Given the description of an element on the screen output the (x, y) to click on. 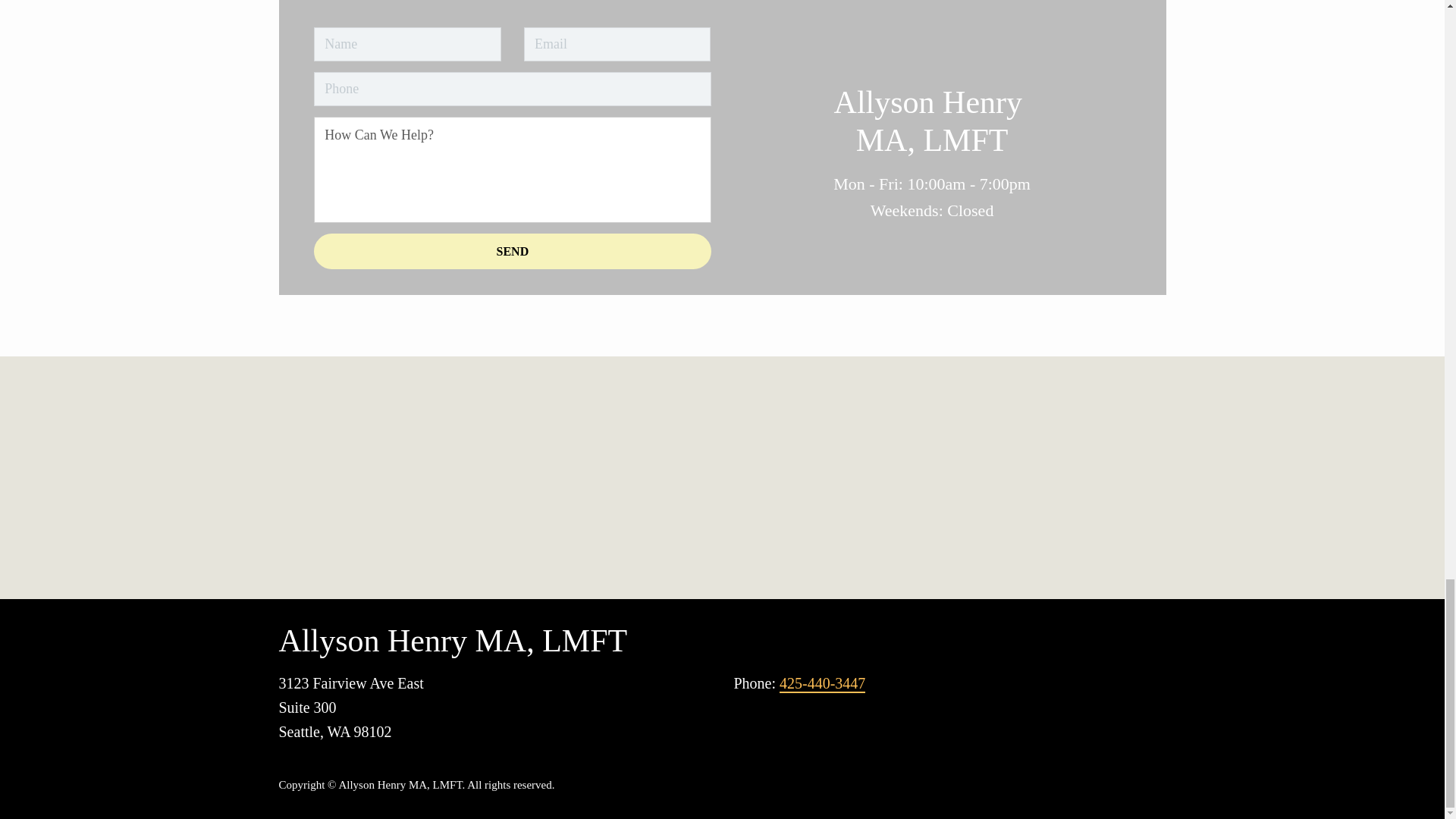
SEND (512, 251)
425-440-3447 (821, 683)
